Given the description of an element on the screen output the (x, y) to click on. 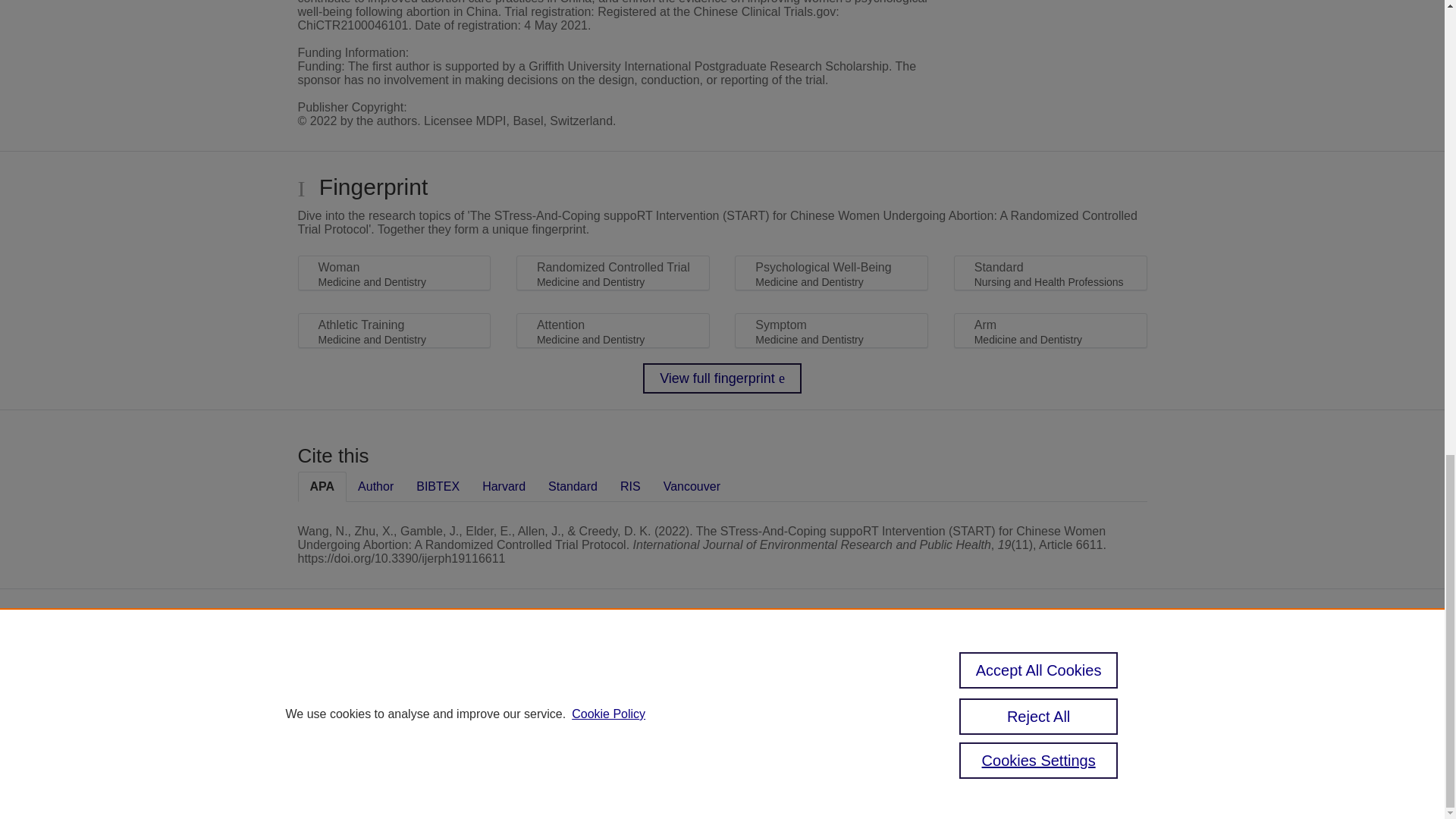
Pure (602, 664)
View full fingerprint (722, 378)
About web accessibility (1033, 670)
Elsevier B.V. (745, 685)
Scopus (633, 664)
use of cookies (595, 739)
Log in to Pure (567, 781)
Cookies Settings (574, 760)
